Given the description of an element on the screen output the (x, y) to click on. 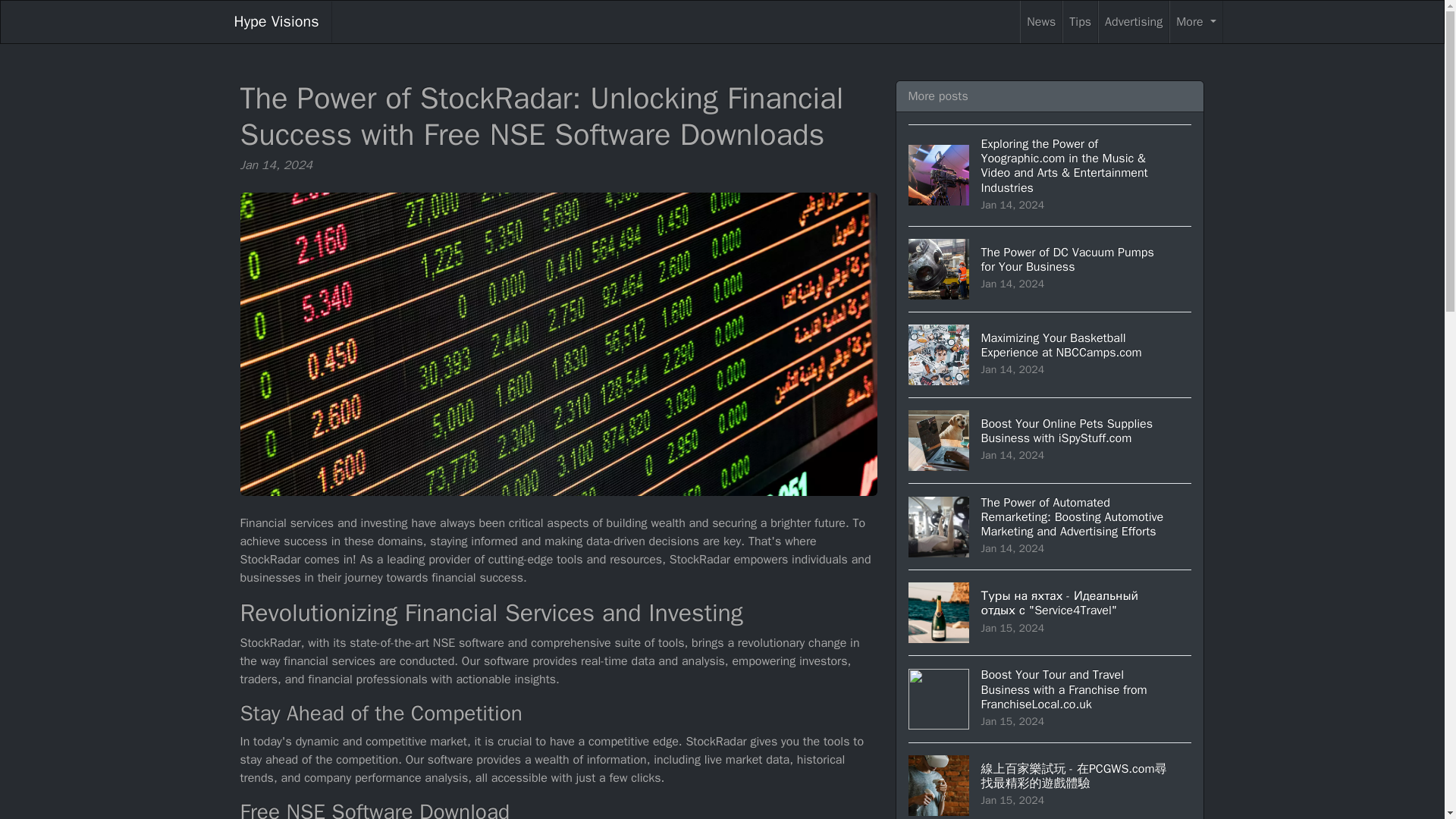
Hype Visions (276, 21)
News (1050, 269)
More (1041, 21)
Advertising (1196, 21)
